Given the description of an element on the screen output the (x, y) to click on. 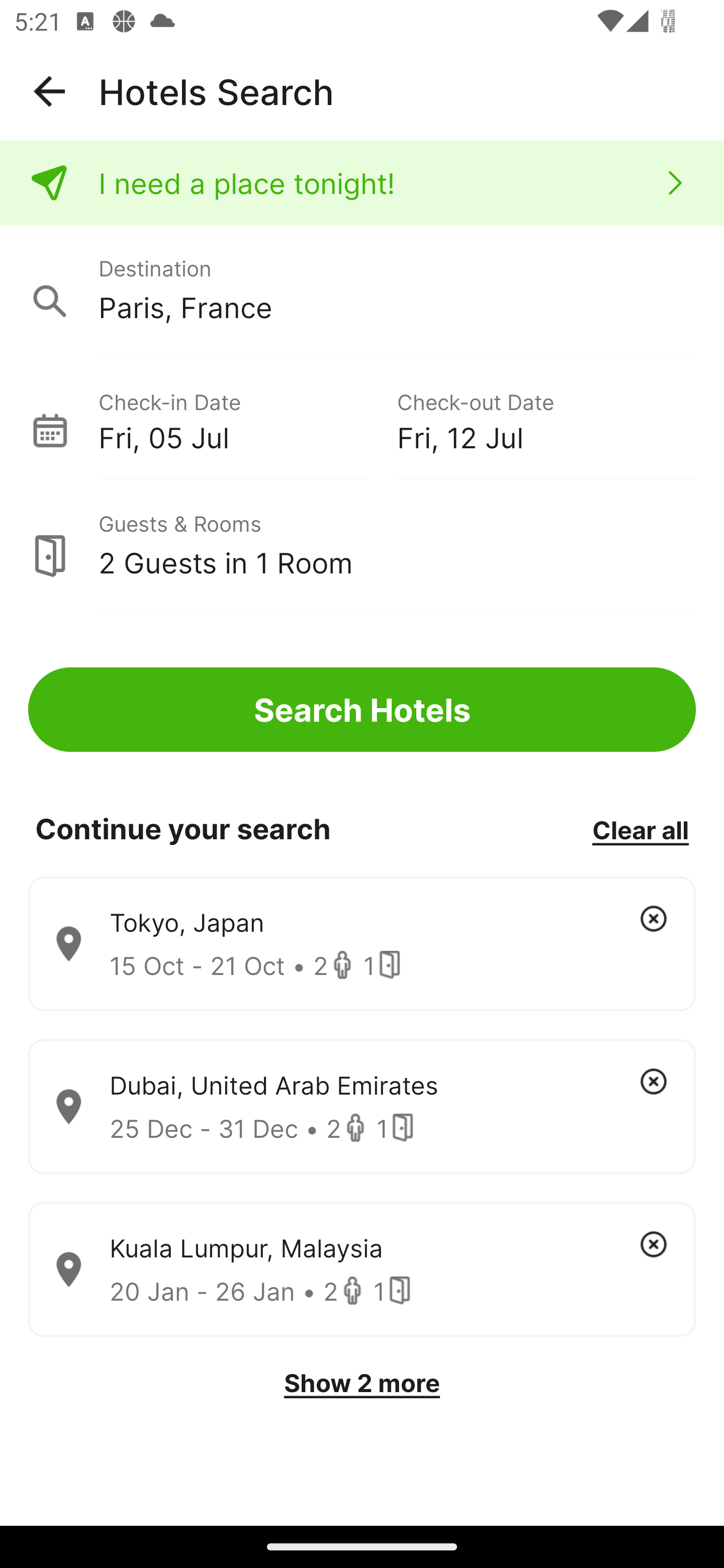
I need a place tonight! (362, 183)
Destination Paris, France (362, 290)
Check-in Date Fri, 05 Jul (247, 418)
Check-out Date Fri, 12 Jul (546, 418)
Guests & Rooms 2 Guests in 1 Room (362, 545)
Search Hotels (361, 709)
Clear all (640, 829)
Tokyo, Japan 15 Oct - 21 Oct • 2  1  (361, 943)
Kuala Lumpur, Malaysia 20 Jan - 26 Jan • 2  1  (361, 1269)
Show 2 more (362, 1382)
